Given the description of an element on the screen output the (x, y) to click on. 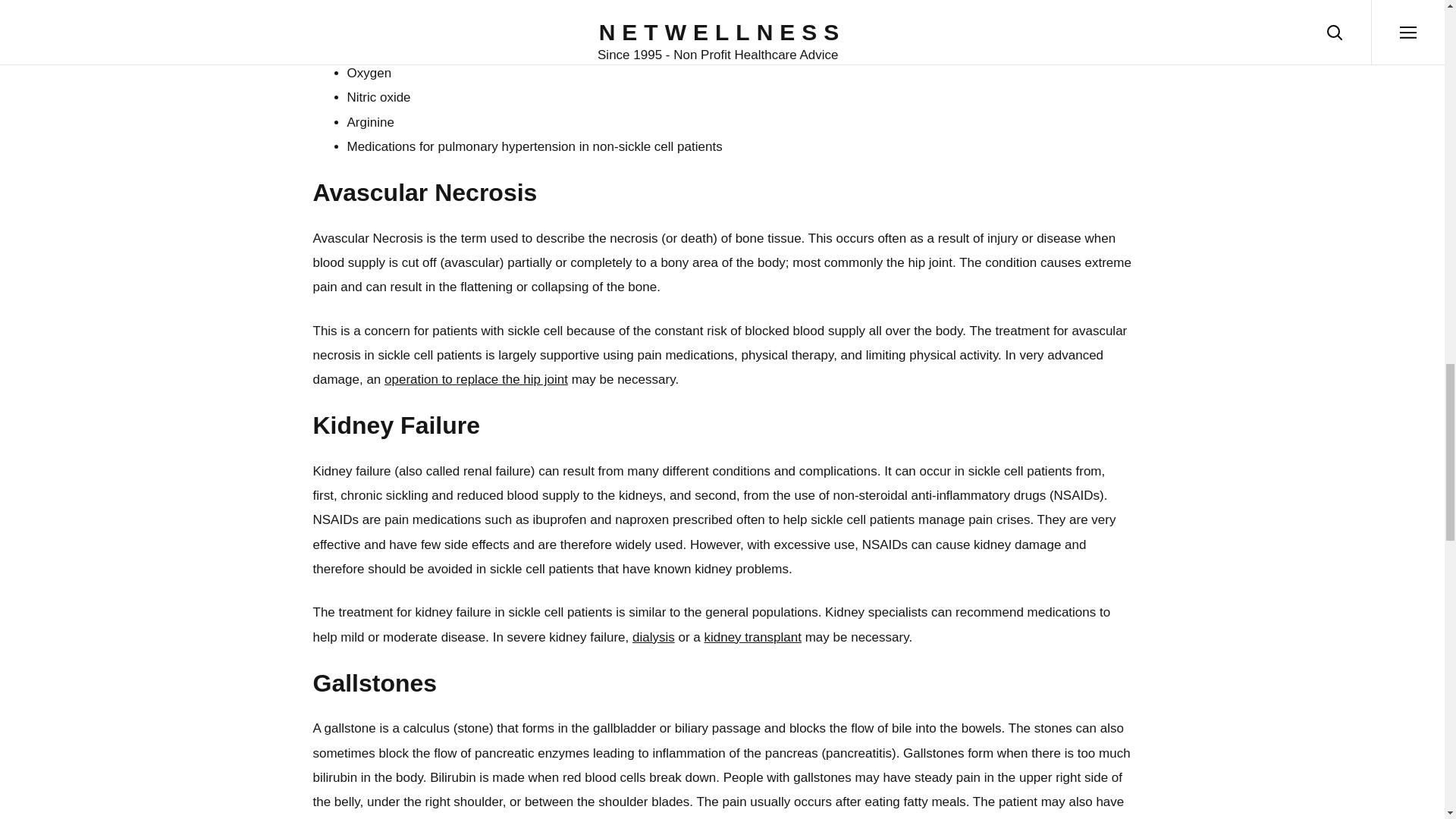
kidney transplant (752, 636)
operation to replace the hip joint (475, 379)
dialysis (653, 636)
